Given the description of an element on the screen output the (x, y) to click on. 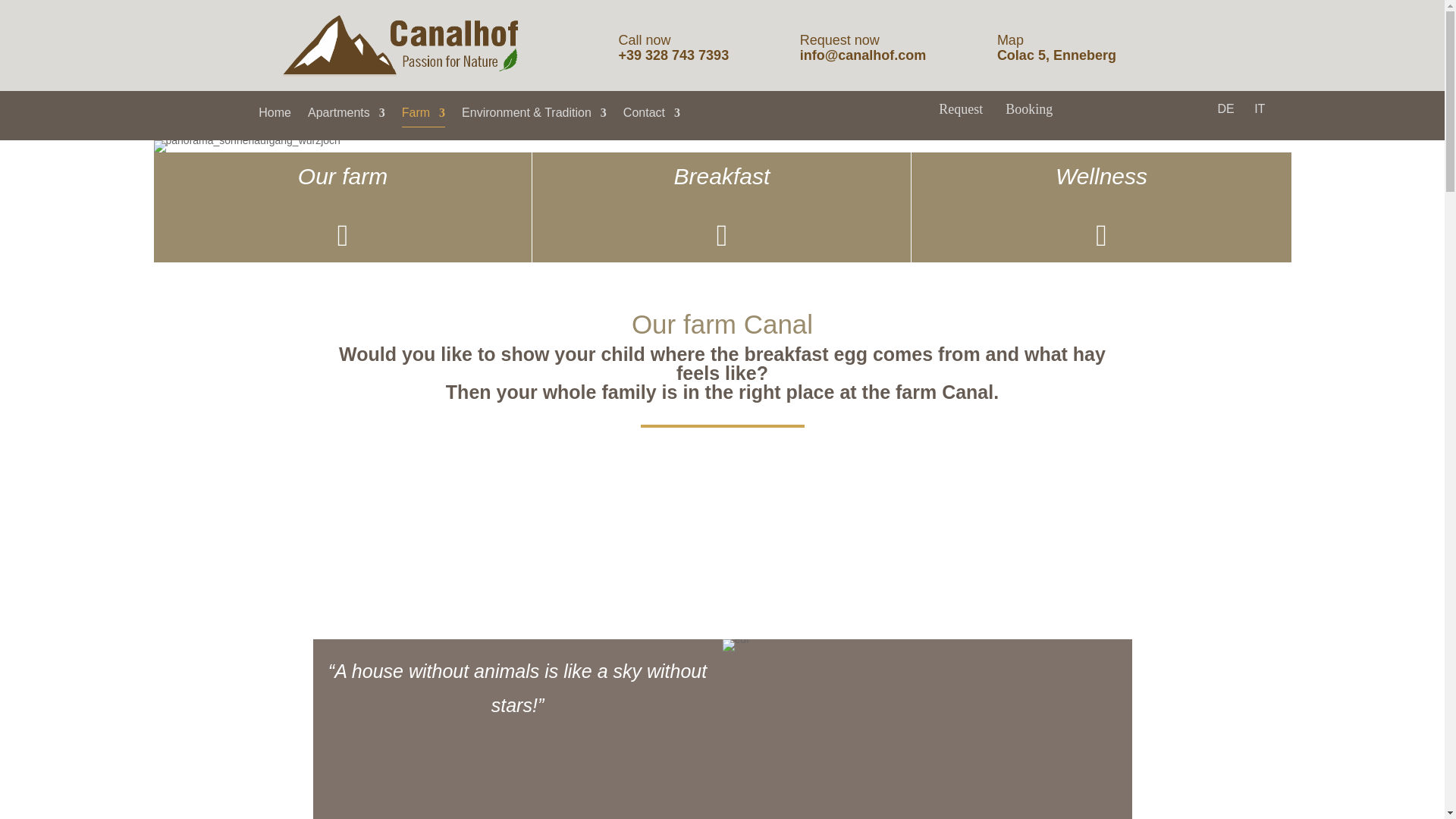
Farm Canal new (399, 45)
edf (735, 645)
Farm (423, 115)
Request (960, 109)
DE (1223, 109)
Apartments (346, 115)
IT (1256, 109)
Contact (651, 115)
Booking (1029, 109)
Home (275, 115)
